Given the description of an element on the screen output the (x, y) to click on. 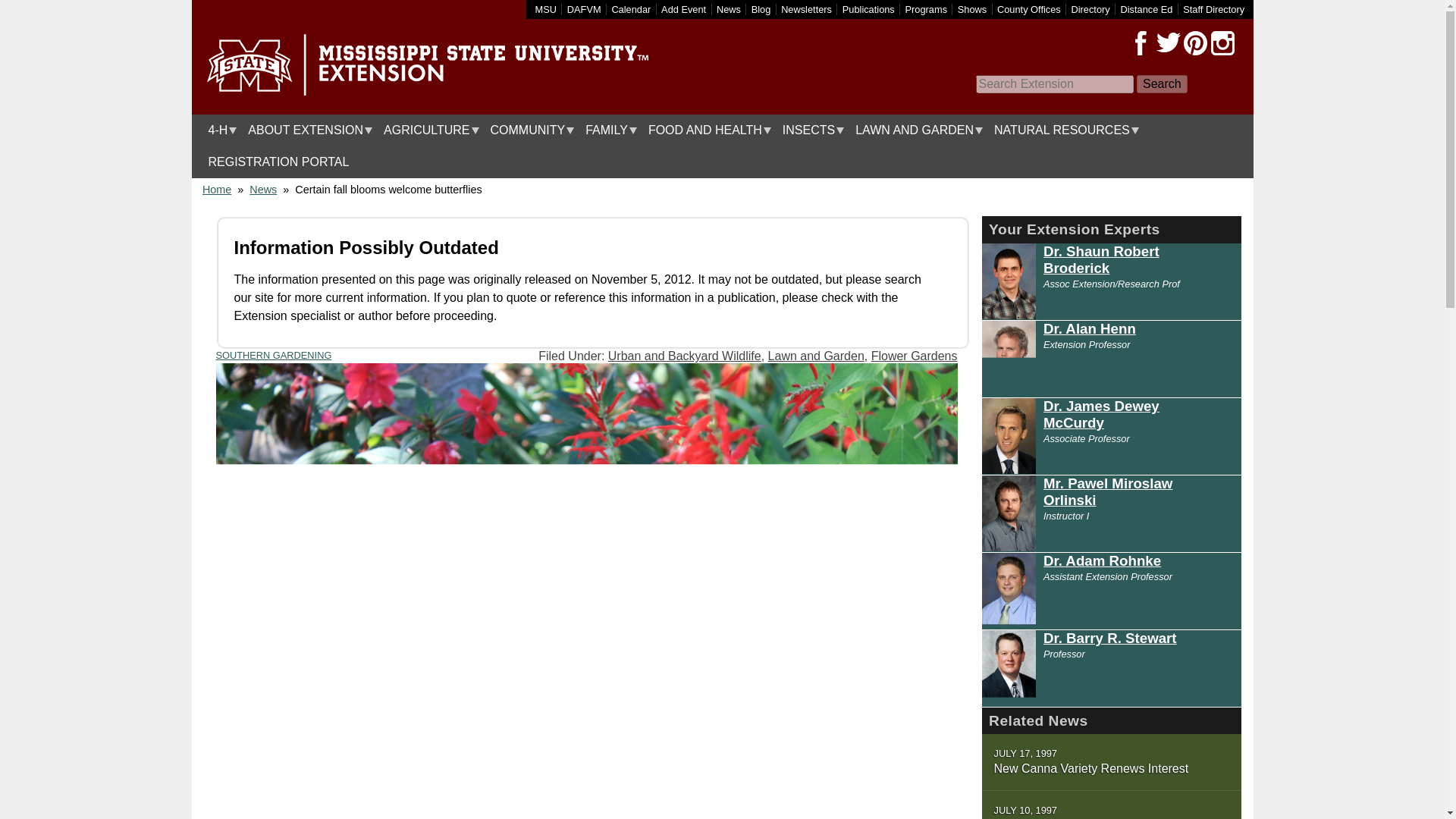
Pinterest (1194, 43)
Programs (926, 9)
Find a county extension office (1029, 9)
Newsletters (805, 9)
4-H (218, 130)
Search (1162, 84)
Publications (869, 9)
